Given the description of an element on the screen output the (x, y) to click on. 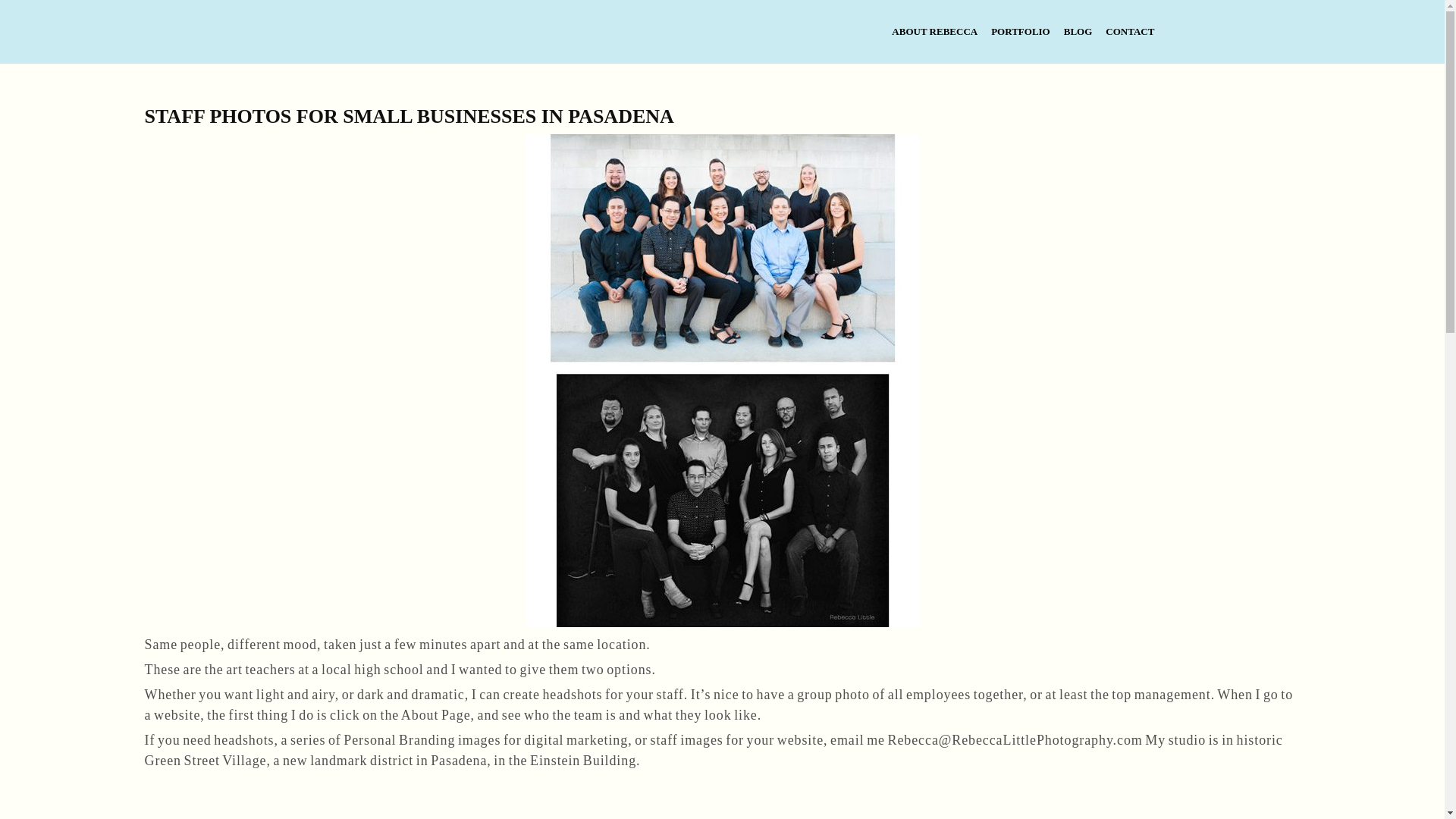
BLOG (1078, 30)
ABOUT REBECCA (152, 27)
PORTFOLIO (933, 30)
CONTACT (1020, 30)
